Given the description of an element on the screen output the (x, y) to click on. 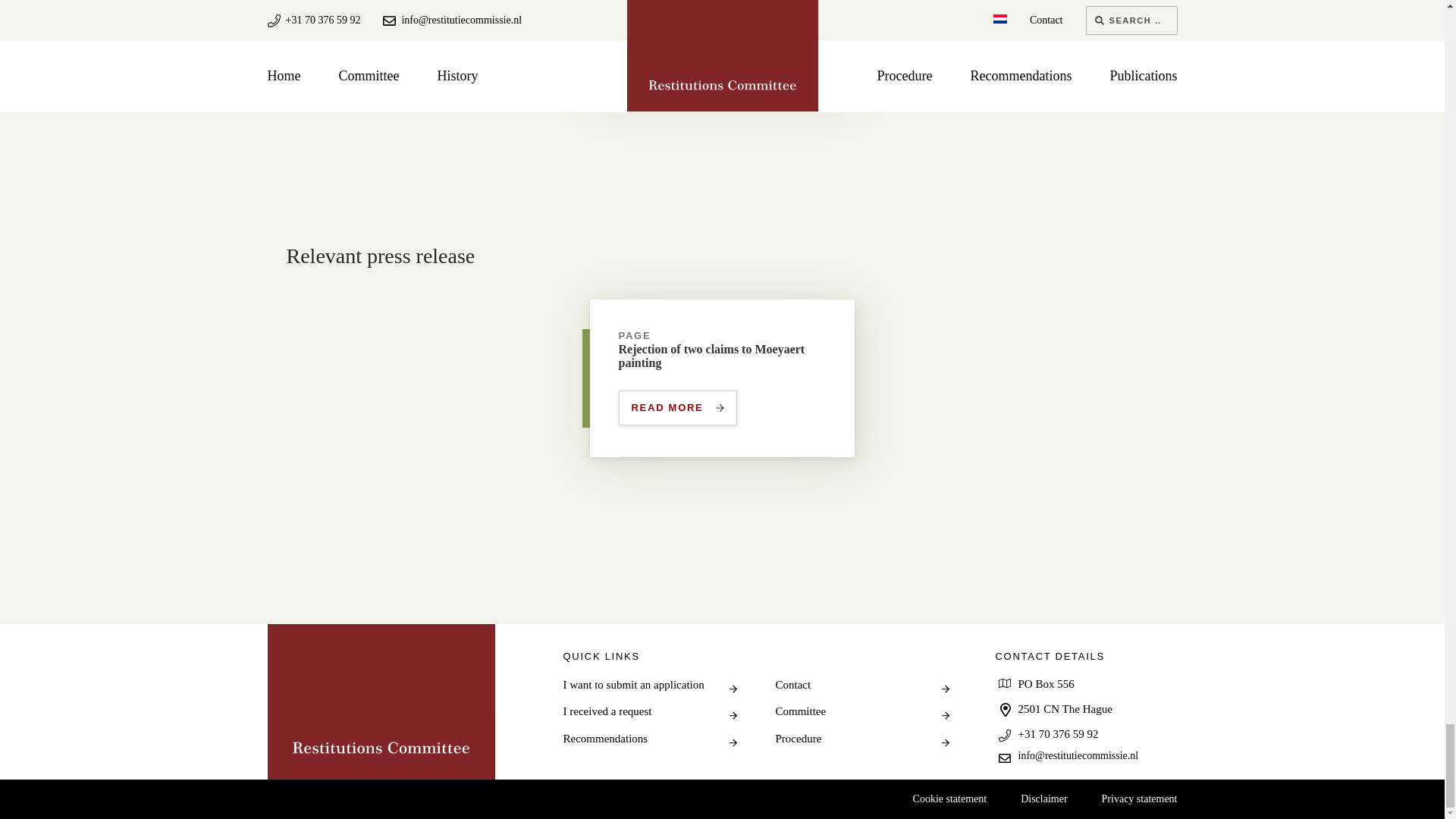
Recommendations (649, 739)
Privacy statement (677, 407)
I want to submit an application (1139, 798)
Cookie statement (649, 685)
home Restitutiecommissie (949, 798)
I received a request (380, 701)
Procedure (649, 711)
Contact (861, 739)
Disclaimer (861, 685)
Committee (1043, 798)
